Given the description of an element on the screen output the (x, y) to click on. 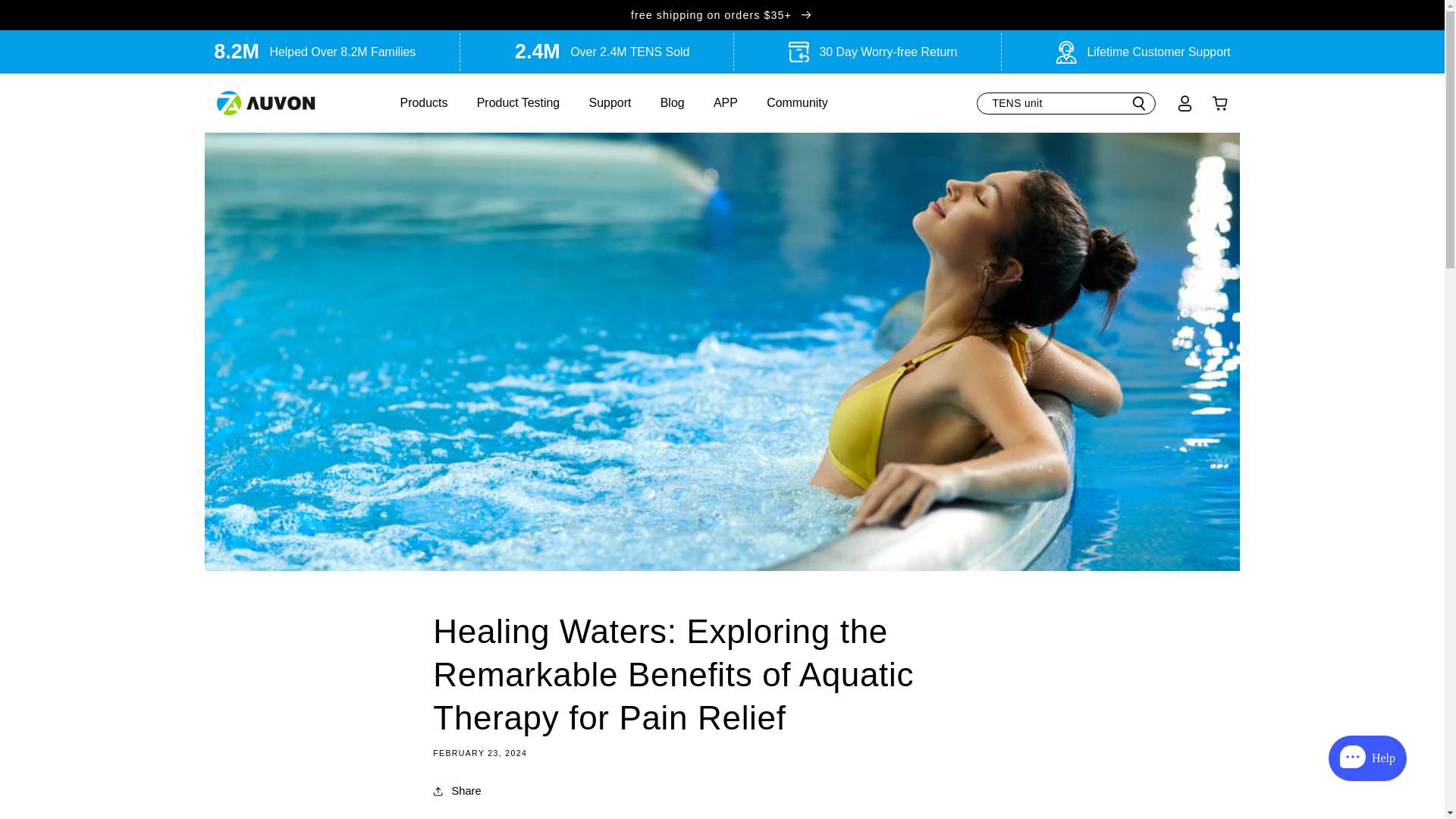
Over 2.4M TENS Sold (629, 51)
TENS unit (1066, 103)
Skip to content (48, 18)
Lifetime Customer Support (1158, 51)
2.4M (537, 51)
Products (424, 102)
30 Day Worry-free Return (887, 51)
TENS unit (1066, 103)
8.2M (236, 51)
Helped Over 8.2M Families (341, 51)
